Given the description of an element on the screen output the (x, y) to click on. 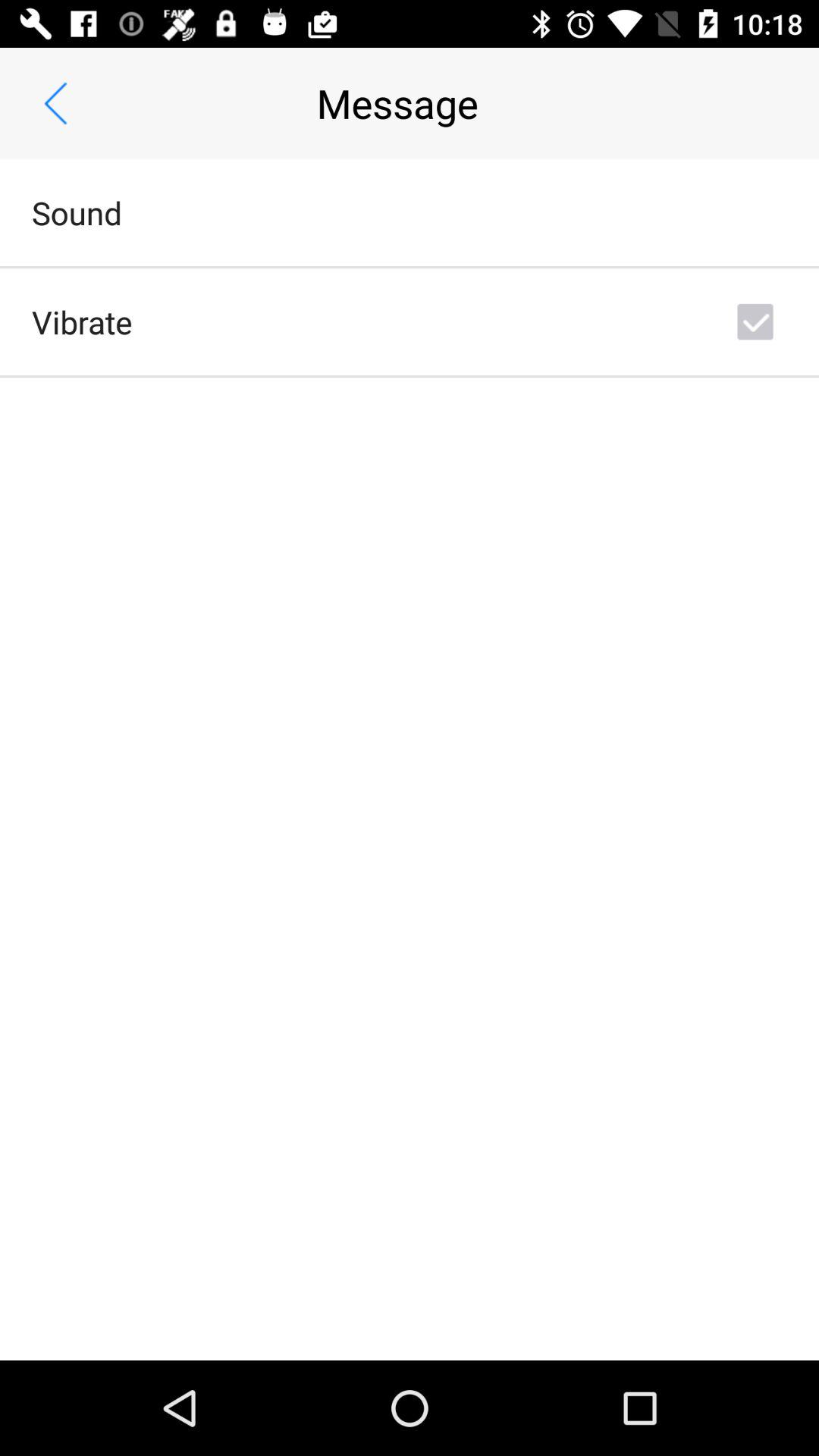
click the sound item (76, 212)
